Given the description of an element on the screen output the (x, y) to click on. 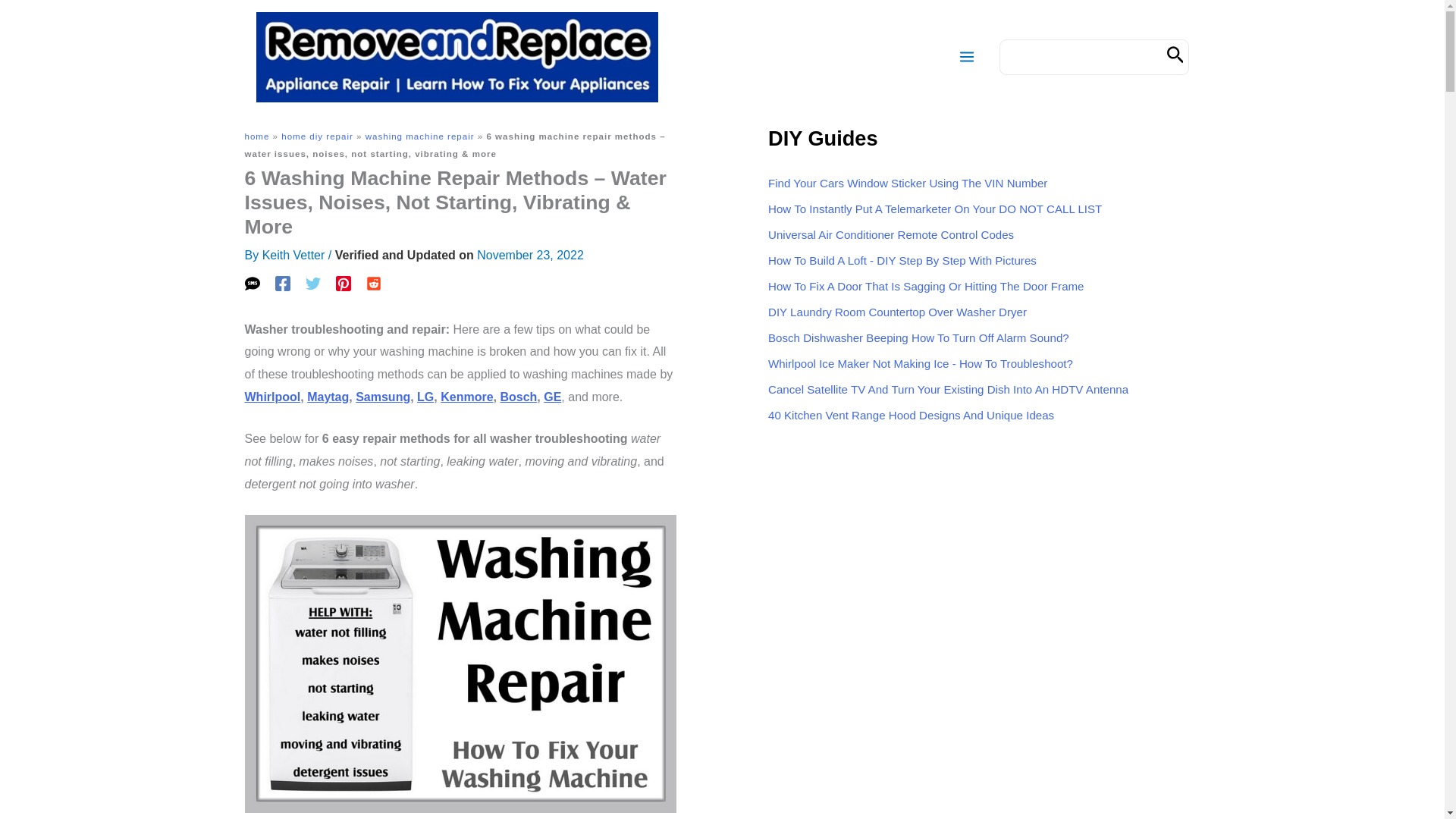
Main Menu (966, 56)
Washing Machine Repair - How To Fix Your Washing Machine DIY (460, 664)
View all posts by Keith Vetter (293, 254)
